Given the description of an element on the screen output the (x, y) to click on. 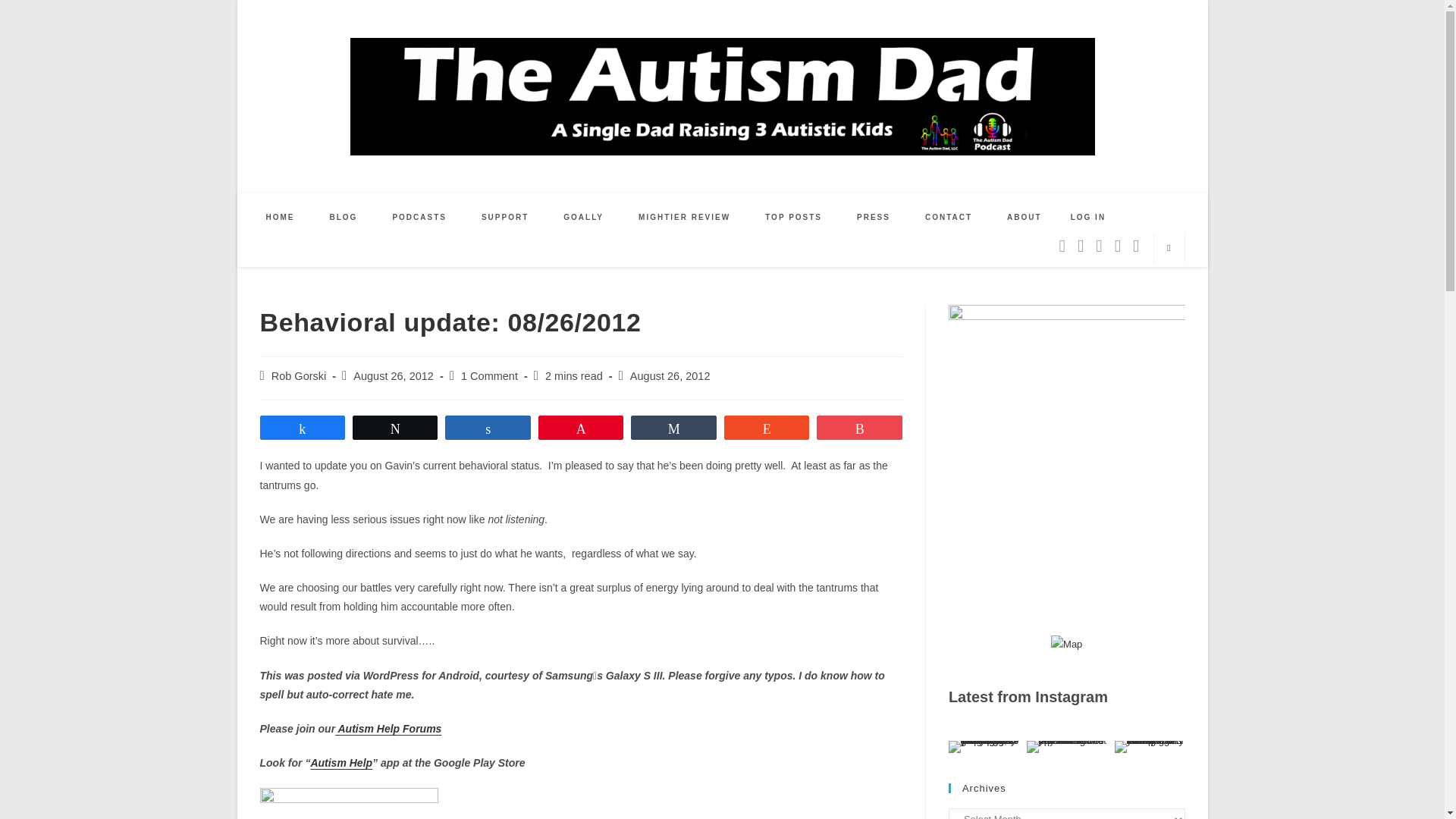
1 Comment (489, 376)
GOALLY (583, 217)
PRESS (873, 217)
Rob Gorski (298, 376)
CONTACT (948, 217)
TOP POSTS (794, 217)
SUPPORT (505, 217)
BLOG (344, 217)
ABOUT (1024, 217)
